Given the description of an element on the screen output the (x, y) to click on. 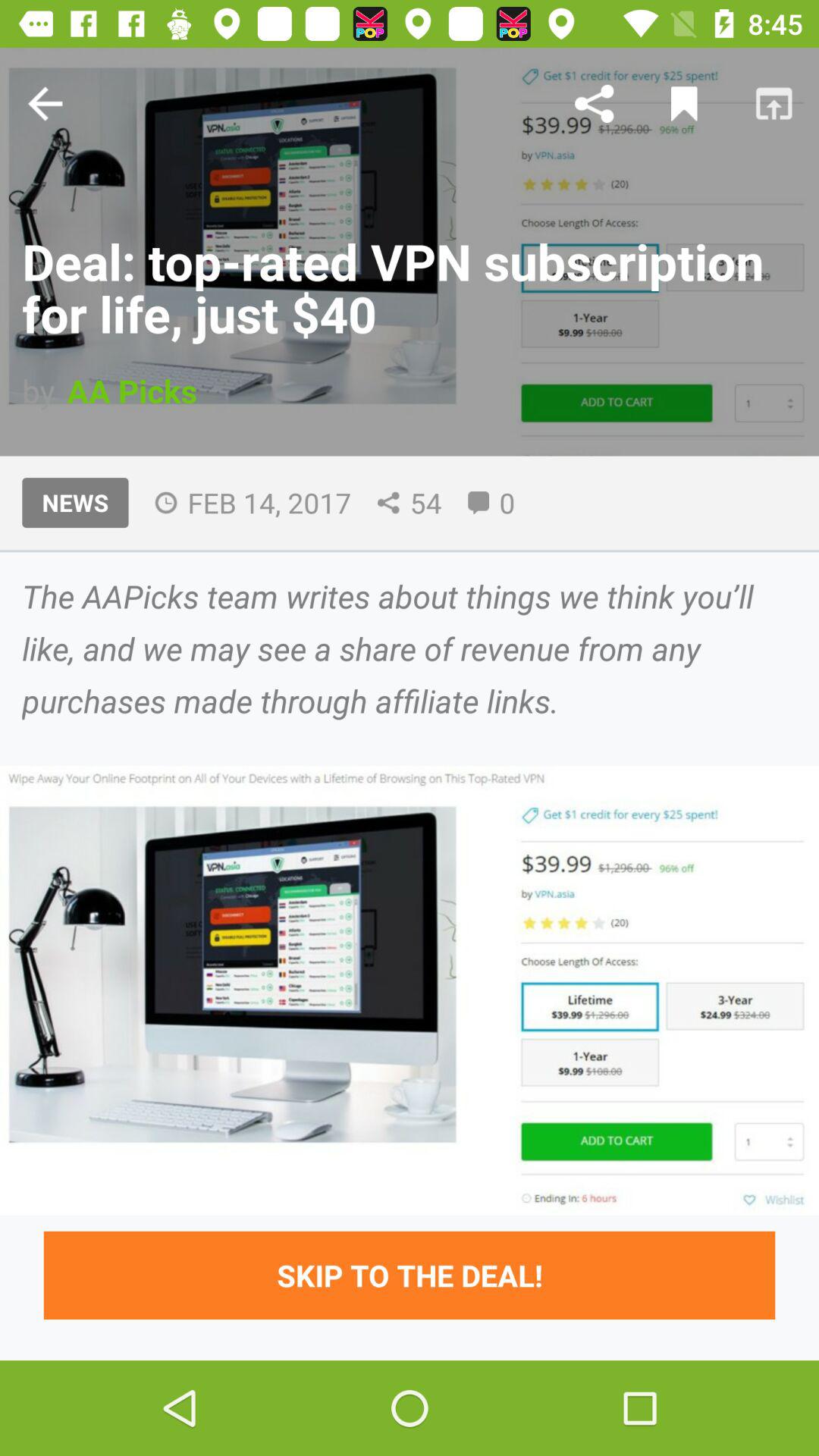
swipe until the the aapicks team item (409, 648)
